Given the description of an element on the screen output the (x, y) to click on. 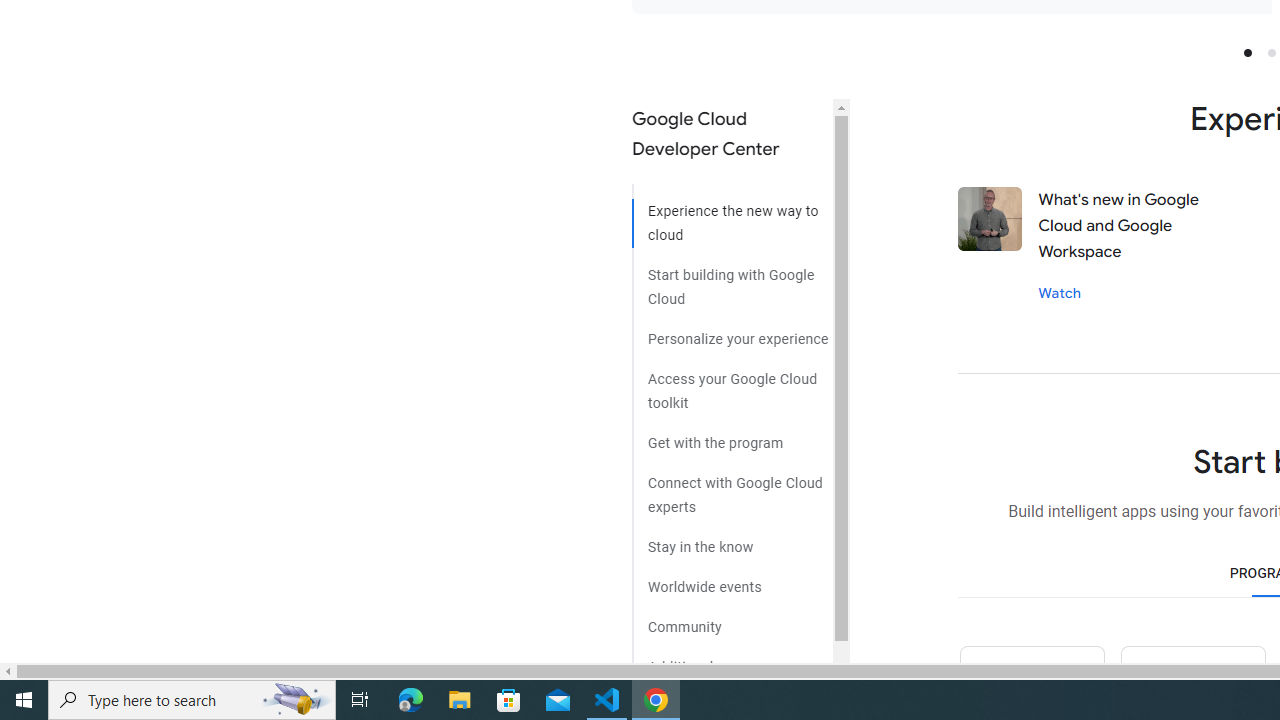
Connect with Google Cloud experts (732, 487)
Start building with Google Cloud (732, 279)
Java icon (1192, 682)
Additional resources (732, 659)
Personalize your experience (732, 331)
Slide 2 (1271, 52)
Get with the program (732, 435)
Community (732, 619)
Python icon (1031, 682)
Access your Google Cloud toolkit (732, 384)
Experience the new way to cloud (732, 215)
Stay in the know (732, 539)
Watch (1059, 292)
Worldwide events (732, 579)
